Given the description of an element on the screen output the (x, y) to click on. 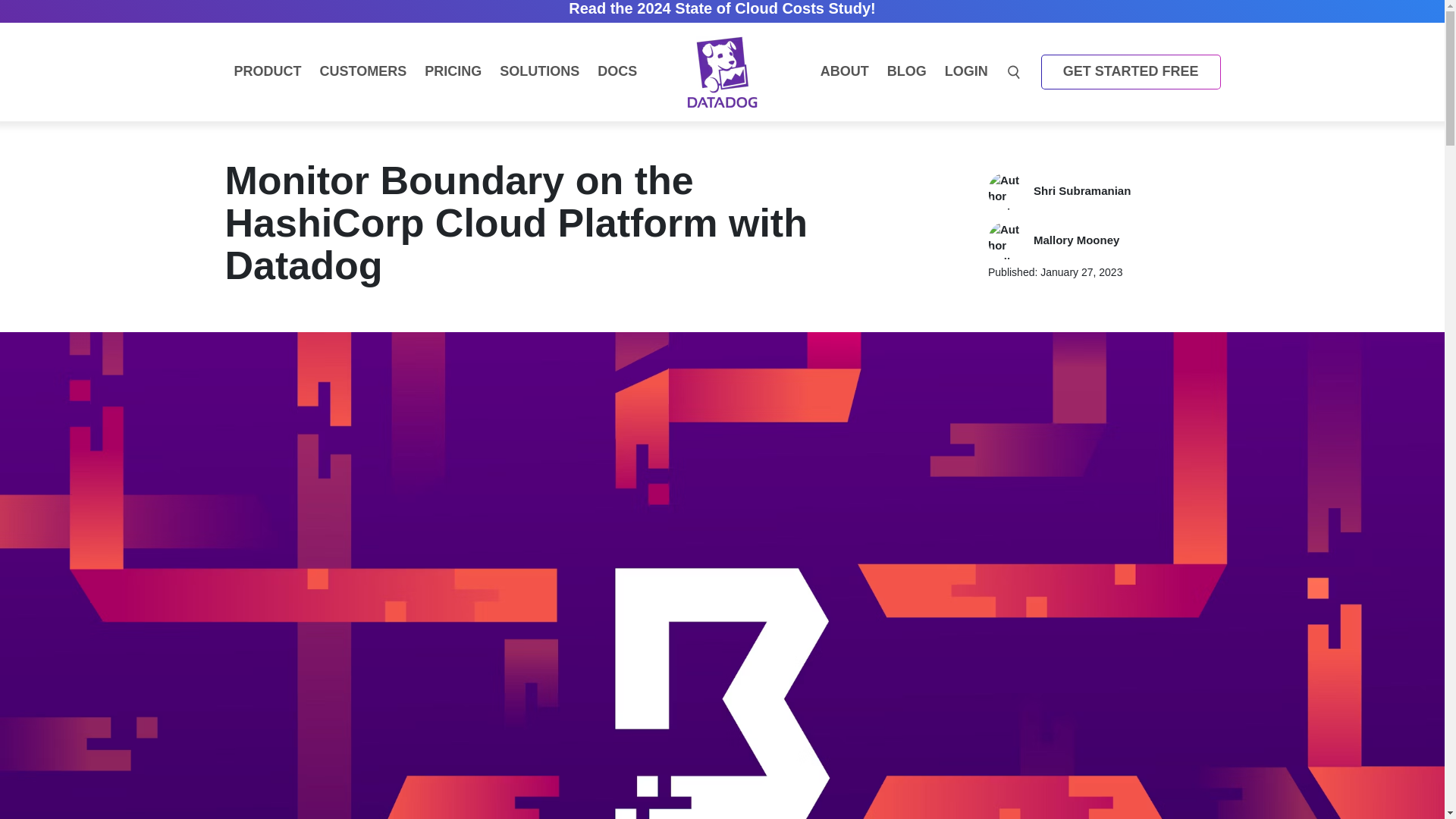
PRODUCT (267, 71)
